Given the description of an element on the screen output the (x, y) to click on. 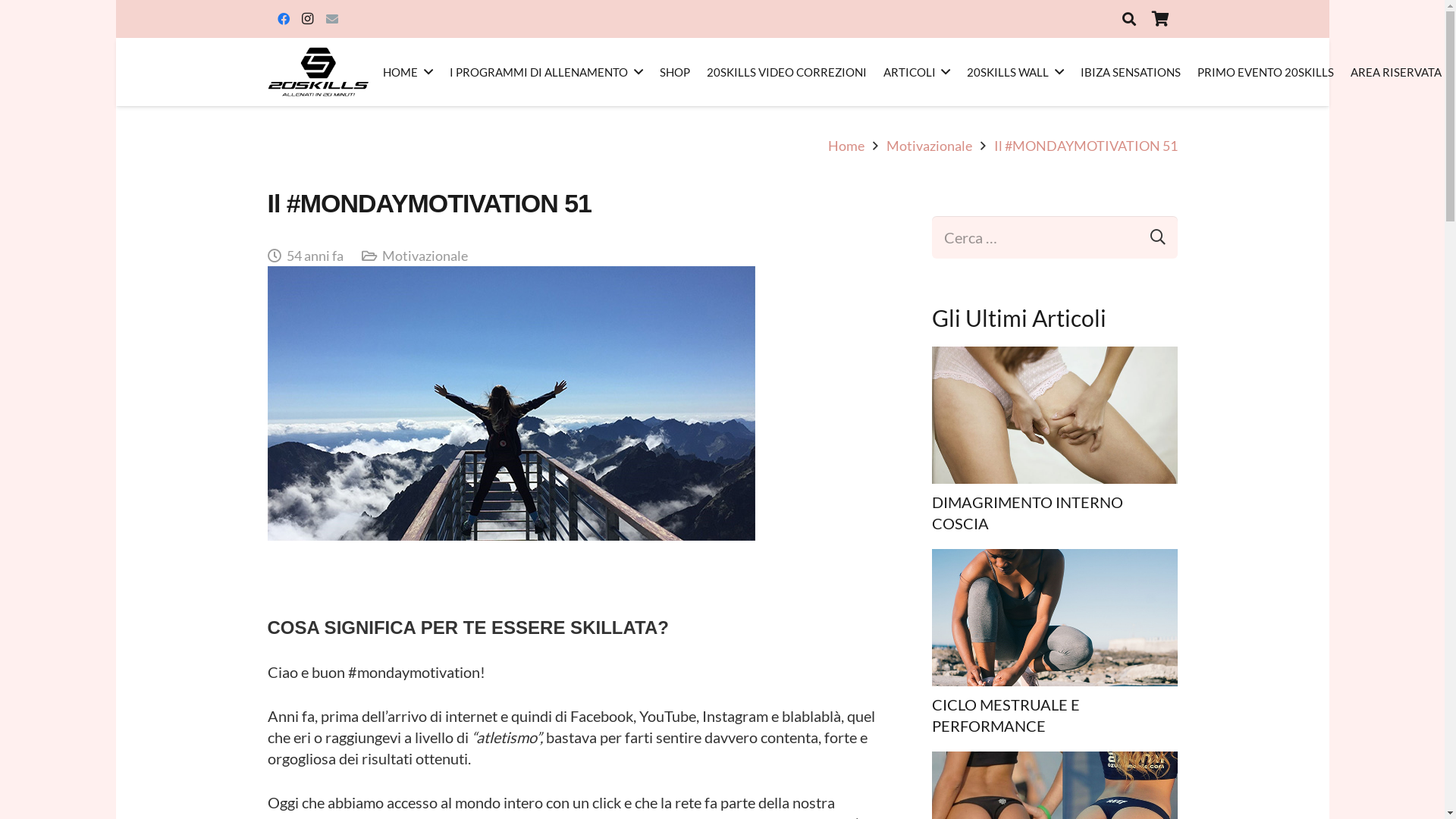
AREA RISERVATA Element type: text (1395, 71)
Il #MONDAYMOTIVATION 51 Element type: text (1084, 145)
Instagram Element type: hover (307, 18)
SHOP Element type: text (674, 71)
I PROGRAMMI DI ALLENAMENTO Element type: text (546, 71)
HOME Element type: text (407, 71)
IBIZA SENSATIONS Element type: text (1130, 71)
Cerca Element type: text (1149, 237)
Motivazionale Element type: text (424, 255)
Motivazionale Element type: text (929, 145)
20SKILLS WALL Element type: text (1015, 71)
PRIMO EVENTO 20SKILLS Element type: text (1265, 71)
20SKILLS VIDEO CORREZIONI Element type: text (786, 71)
Home Element type: text (846, 145)
DIMAGRIMENTO INTERNO COSCIA Element type: text (1026, 512)
Facebook Element type: hover (283, 18)
CICLO MESTRUALE E PERFORMANCE Element type: text (1005, 714)
ARTICOLI Element type: text (917, 71)
Email Element type: hover (332, 18)
